Given the description of an element on the screen output the (x, y) to click on. 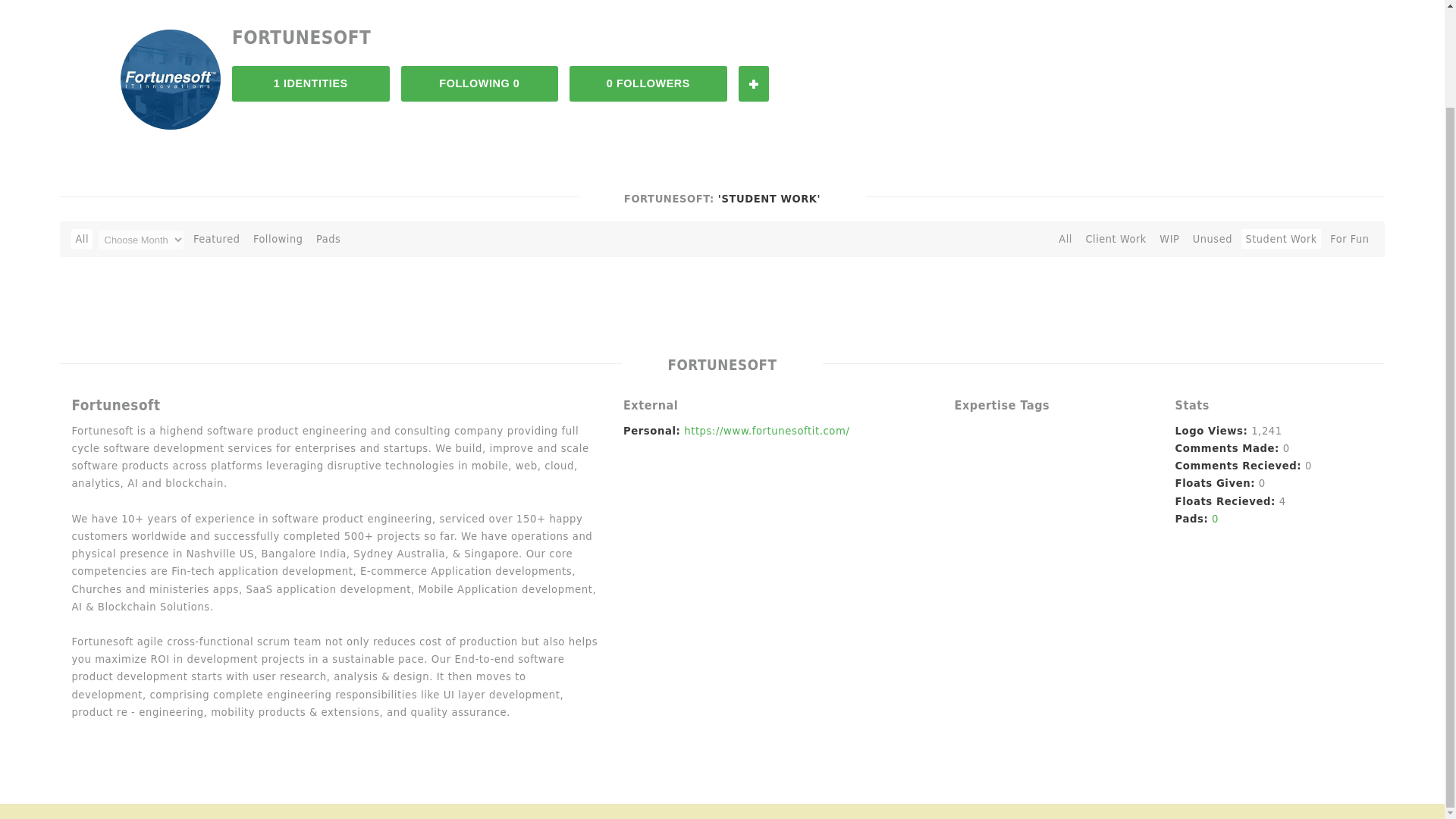
Unused (1212, 238)
Featured (216, 238)
Fortunesoft (170, 79)
Pads (328, 238)
Following (277, 238)
All (82, 238)
Client Work (1115, 238)
Student Work (1280, 238)
FOLLOWING 0 (480, 83)
WIP (1169, 238)
